Given the description of an element on the screen output the (x, y) to click on. 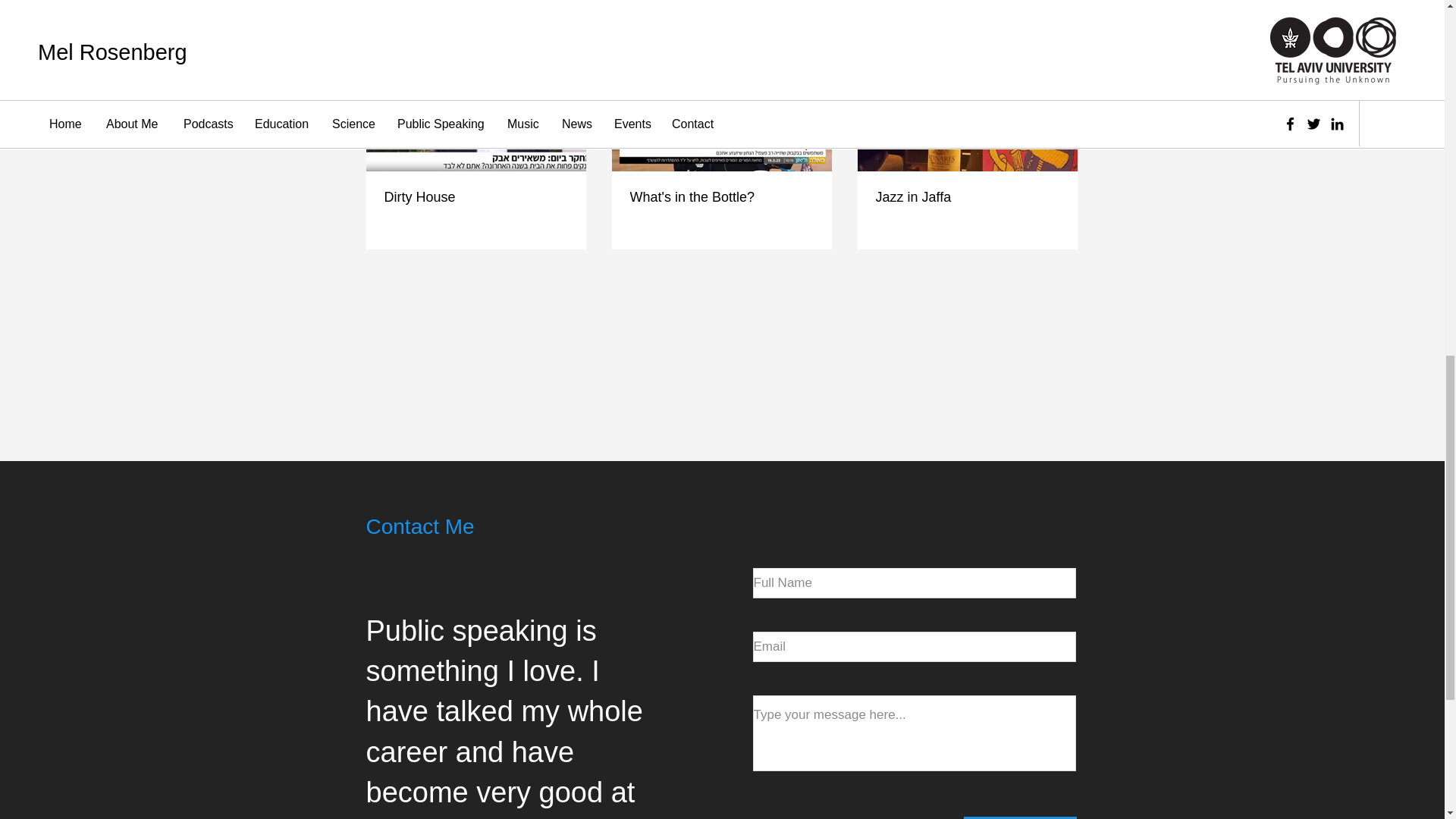
What's in the Bottle? (720, 197)
See All (1061, 21)
Jazz in Jaffa (966, 197)
Dirty House (475, 197)
Submit (1018, 817)
